Given the description of an element on the screen output the (x, y) to click on. 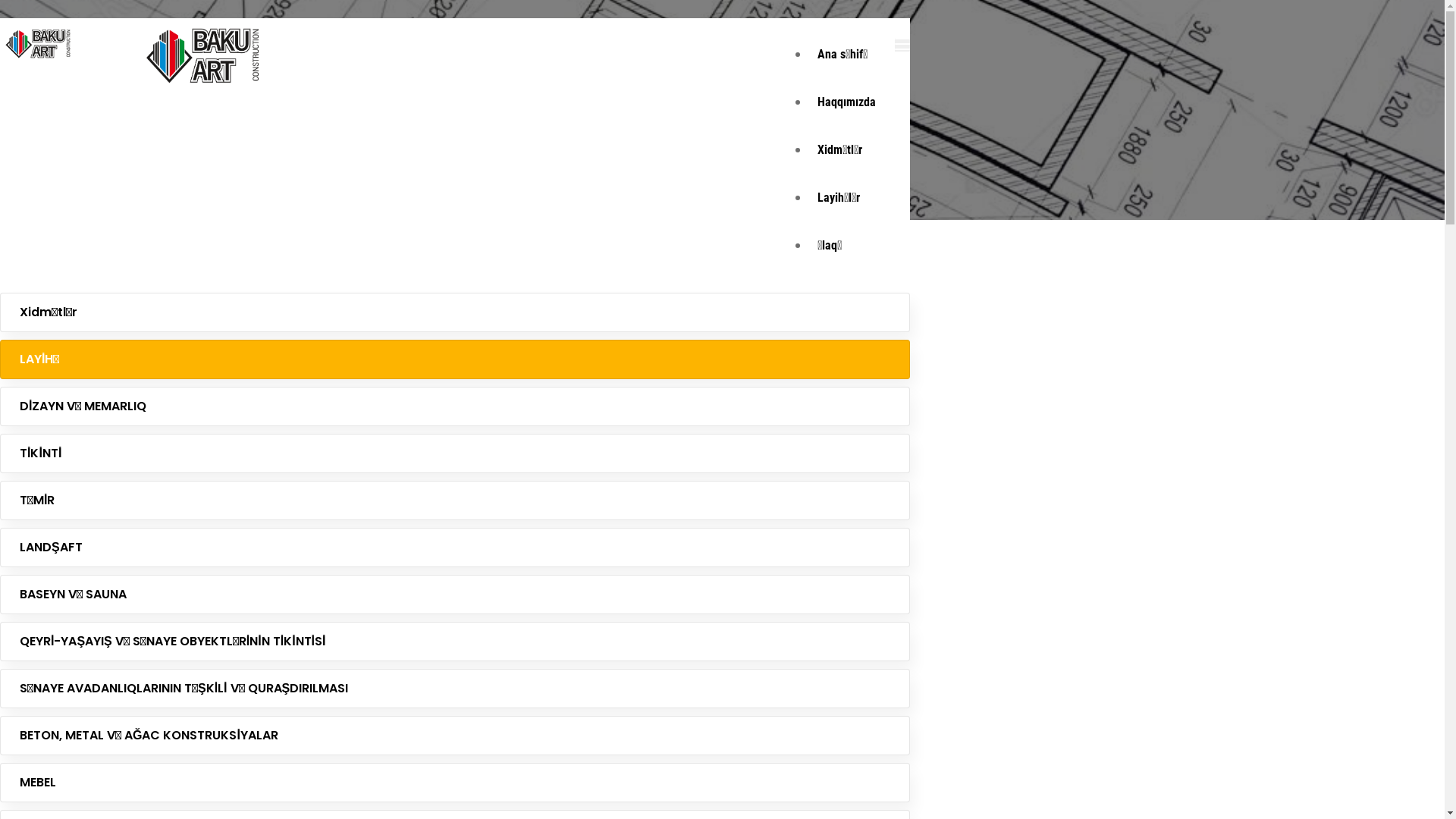
MEBEL Element type: text (455, 782)
